Given the description of an element on the screen output the (x, y) to click on. 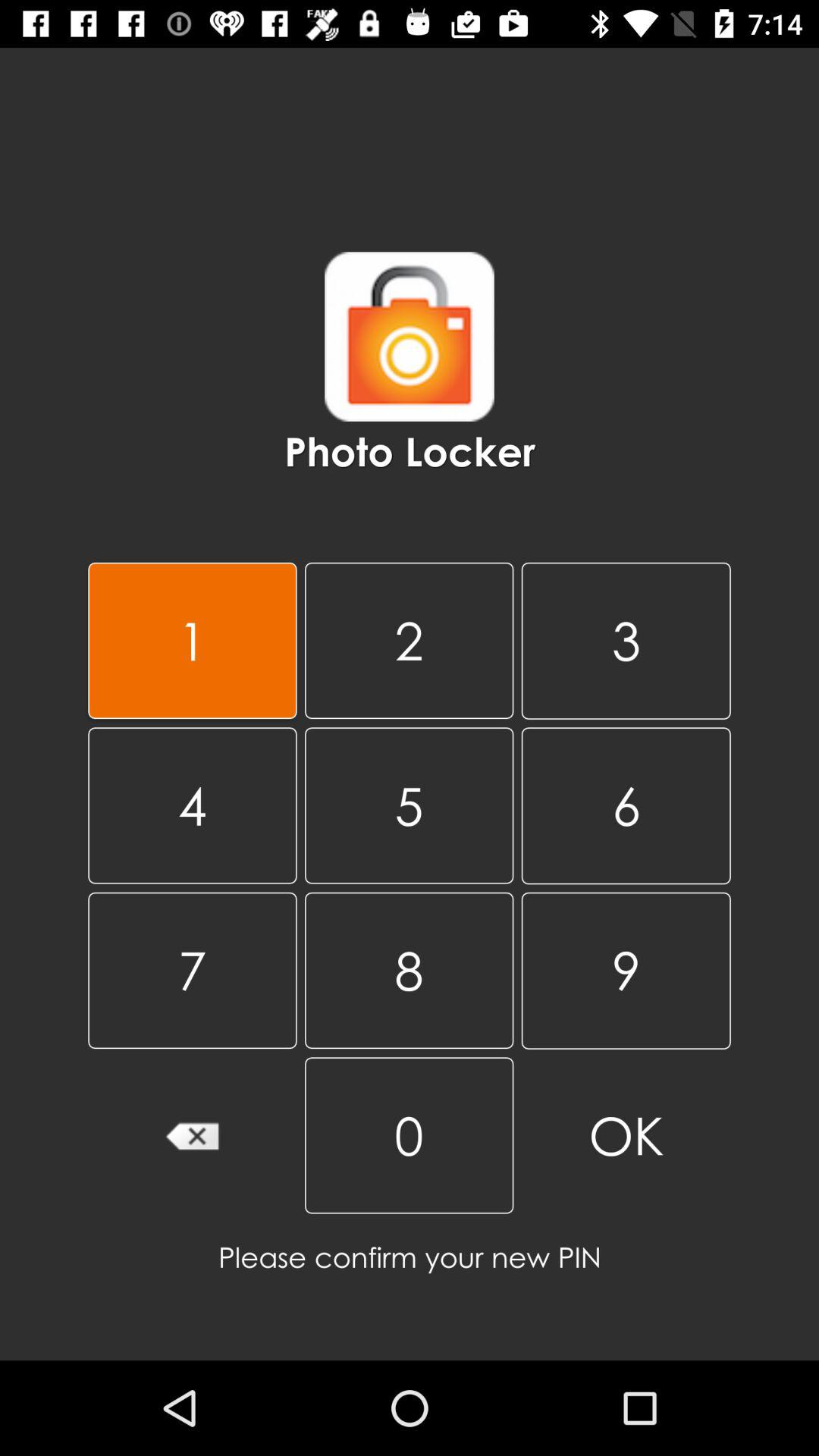
jump to ok icon (625, 1135)
